Given the description of an element on the screen output the (x, y) to click on. 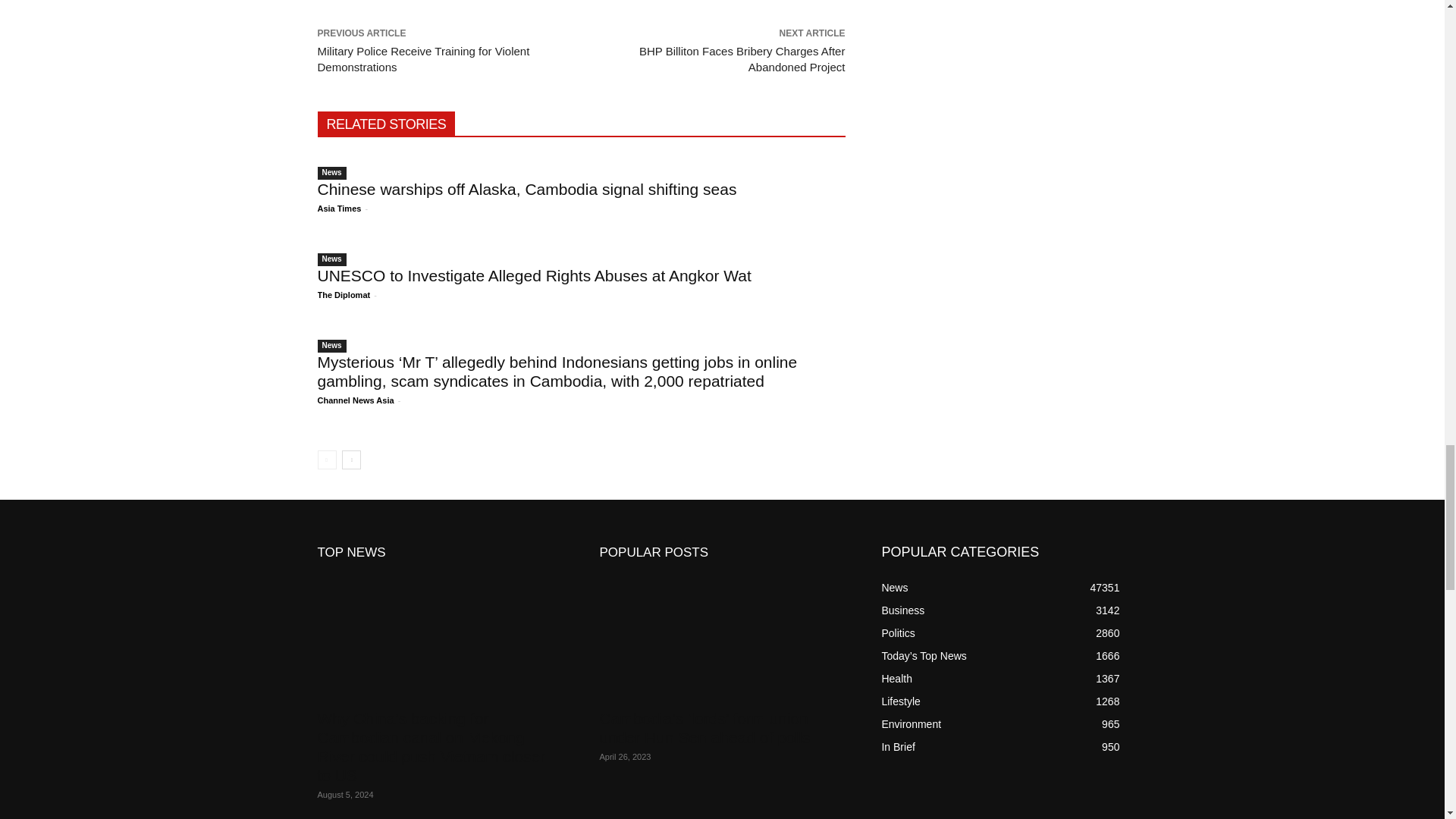
UNESCO to Investigate Alleged Rights Abuses at Angkor Wat (534, 275)
Military Police Receive Training for Violent Demonstrations (423, 59)
The Diplomat (343, 294)
Chinese warships off Alaska, Cambodia signal shifting seas (526, 189)
Asia Times (339, 207)
News (331, 259)
Chinese warships off Alaska, Cambodia signal shifting seas (526, 189)
News (331, 345)
News (331, 173)
UNESCO to Investigate Alleged Rights Abuses at Angkor Wat (534, 275)
